Given the description of an element on the screen output the (x, y) to click on. 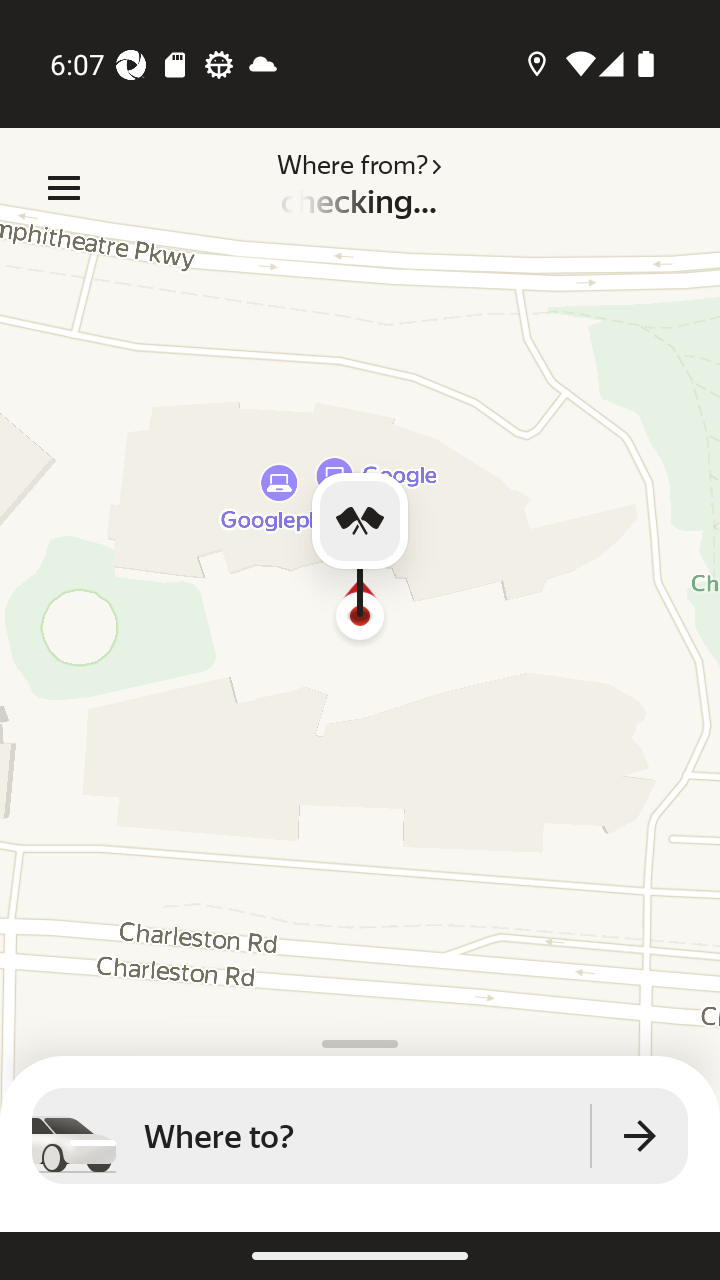
Menu Menu Menu (64, 188)
Where to? Where to? To the choice of address (359, 1136)
To the choice of address (639, 1136)
